Given the description of an element on the screen output the (x, y) to click on. 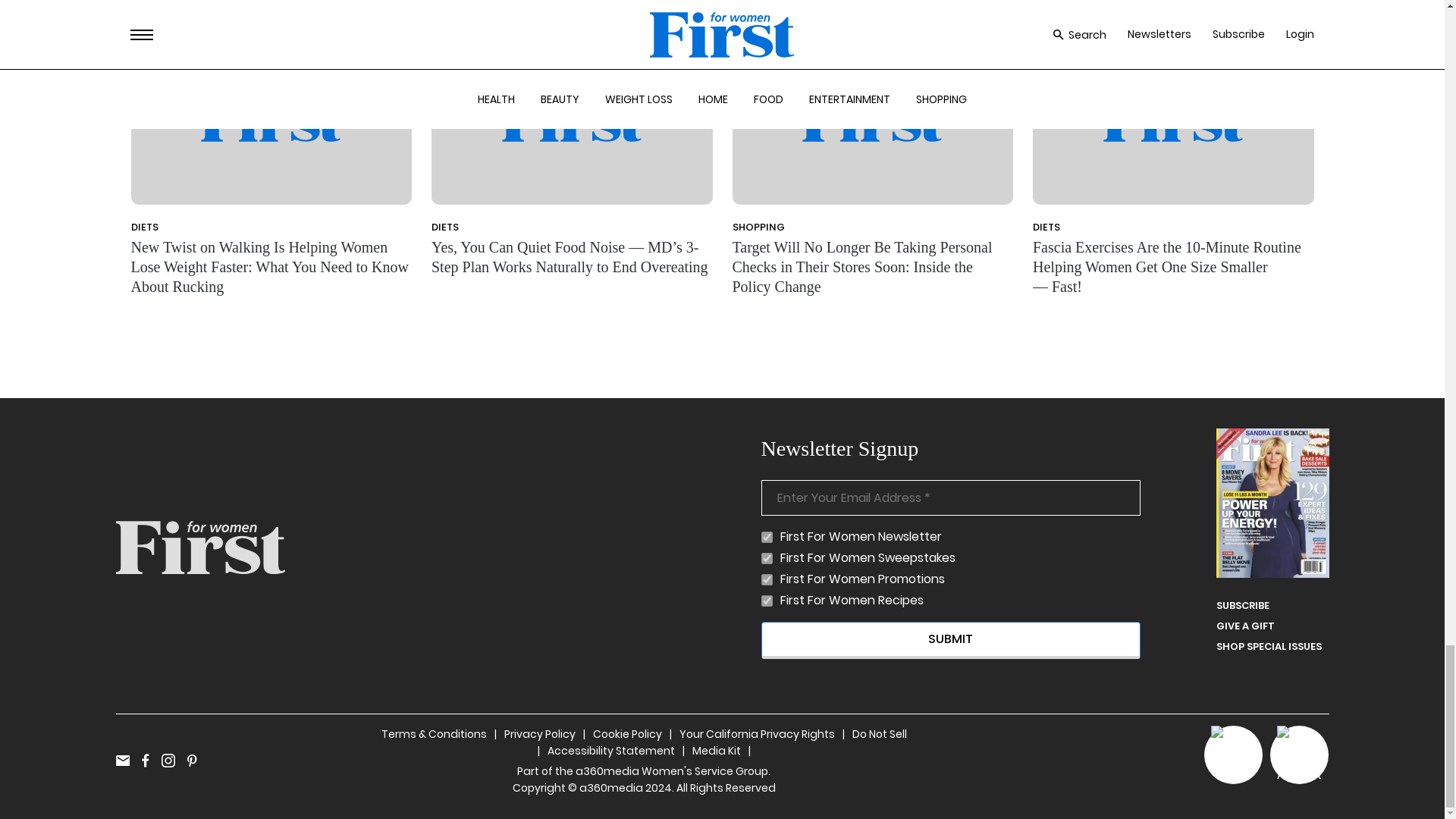
1 (767, 558)
1 (767, 579)
1 (767, 600)
1 (767, 536)
